Given the description of an element on the screen output the (x, y) to click on. 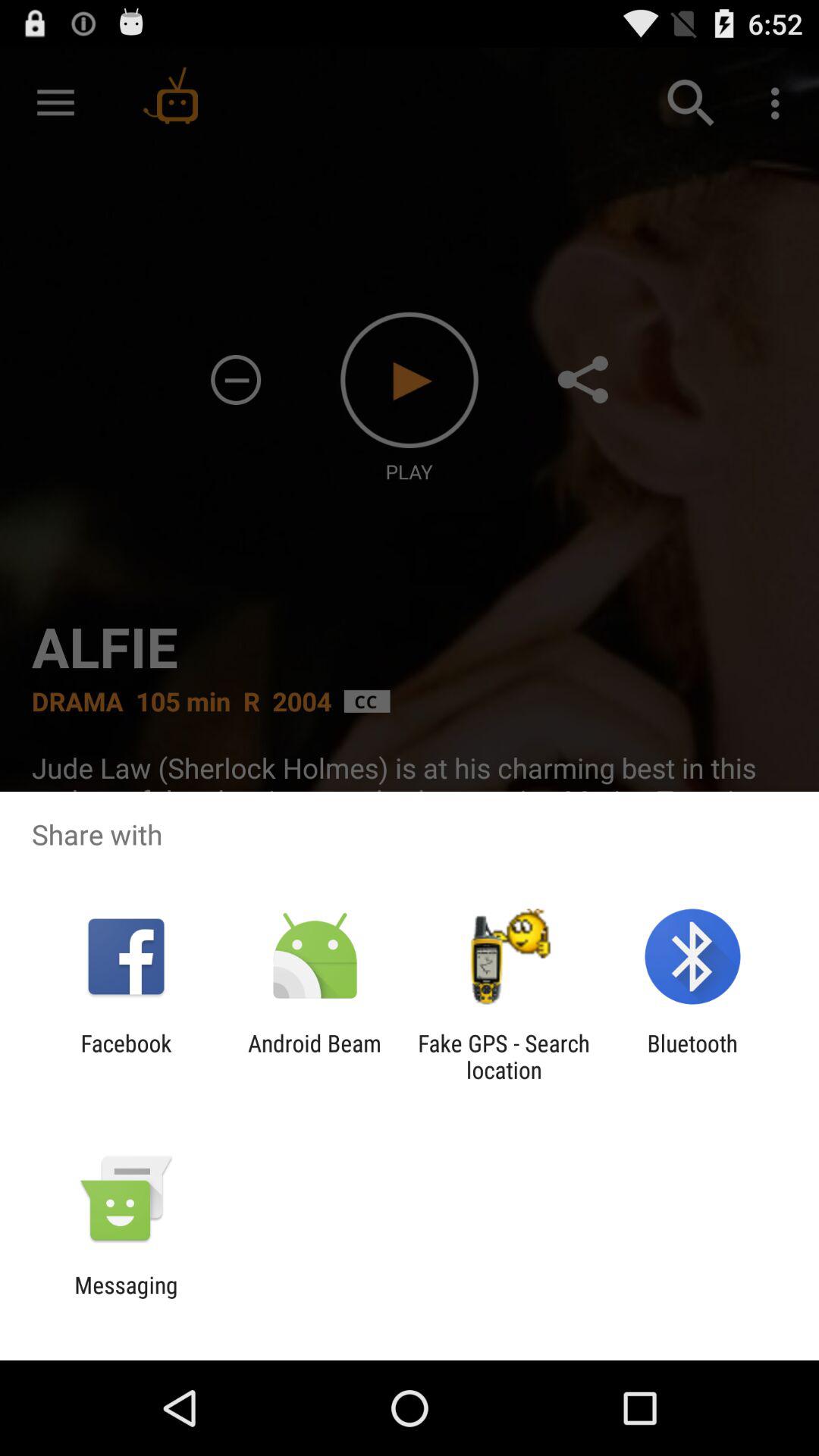
turn off the item next to the fake gps search (692, 1056)
